Given the description of an element on the screen output the (x, y) to click on. 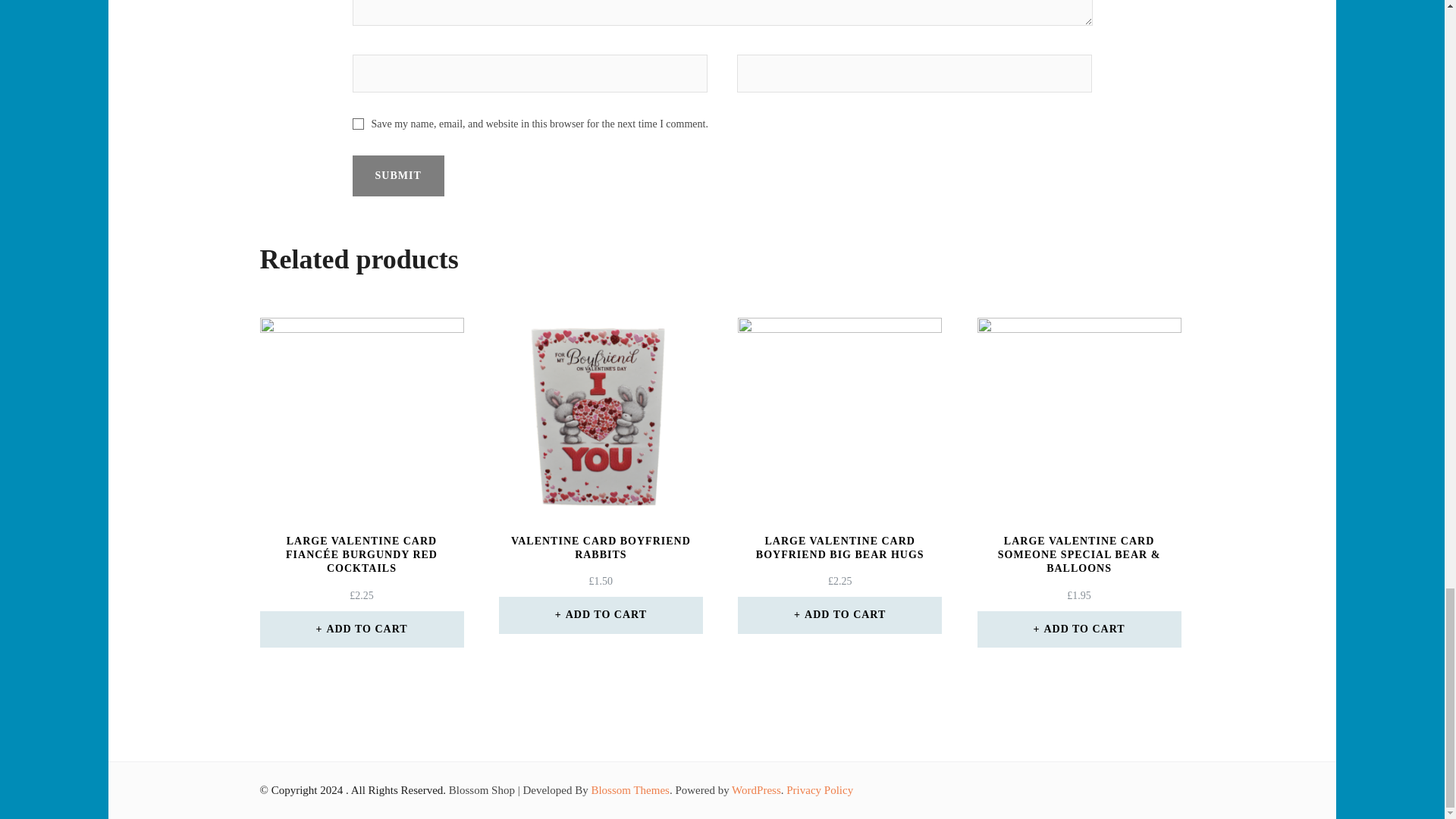
Submit (398, 175)
